Given the description of an element on the screen output the (x, y) to click on. 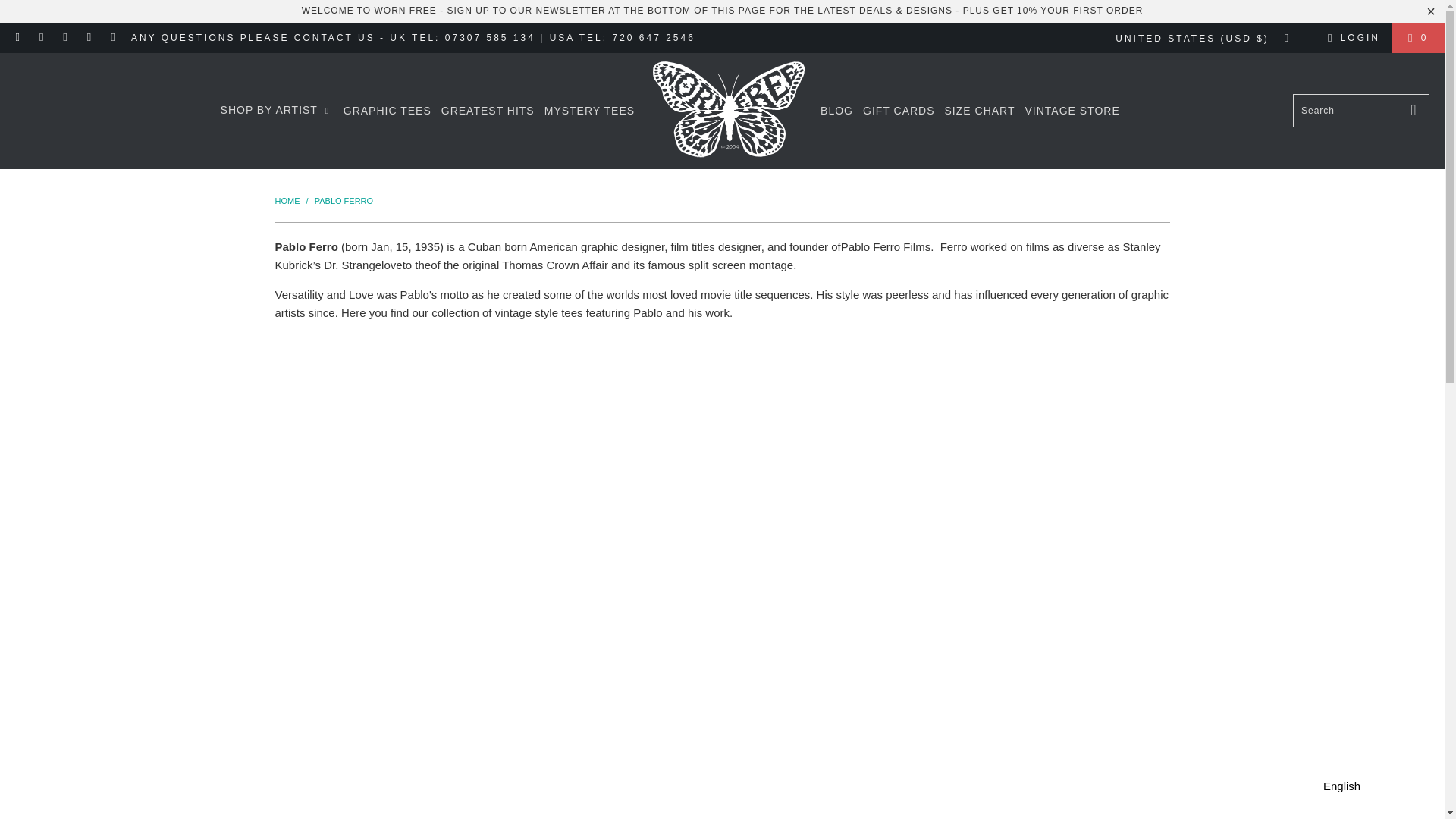
Worn Free (287, 199)
Worn Free on Twitter (112, 37)
Worn Free on Instagram (65, 37)
Pablo Ferro (343, 199)
Worn Free (727, 110)
My Account  (1351, 37)
Worn Free on Facebook (41, 37)
Email Worn Free (17, 37)
Worn Free on Tumblr (89, 37)
